Given the description of an element on the screen output the (x, y) to click on. 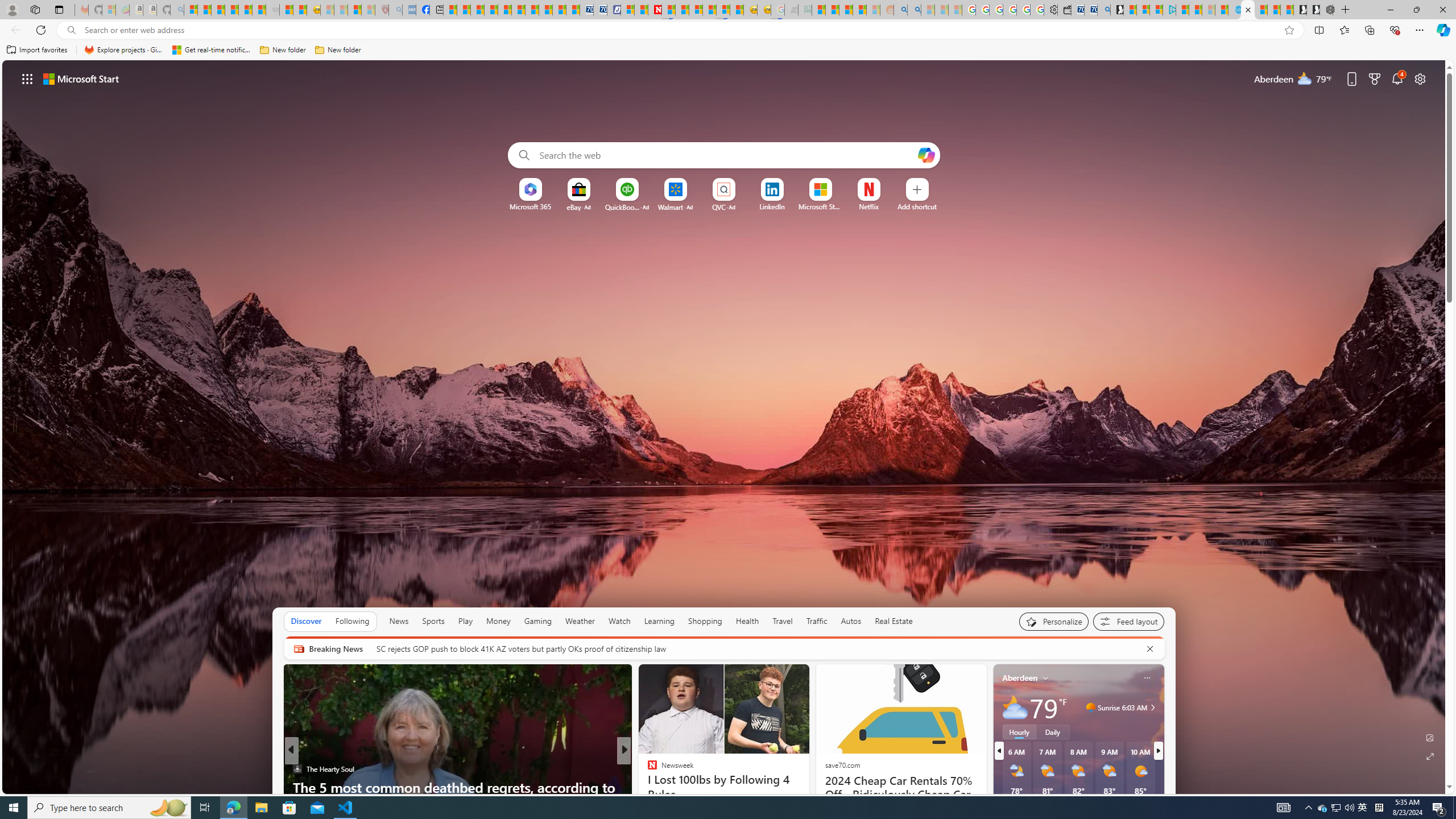
Student Loan Update: Forgiveness Program Ends This Month (858, 9)
Latest Politics News & Archive | Newsweek.com (654, 9)
XDA Developers (647, 768)
